Given the description of an element on the screen output the (x, y) to click on. 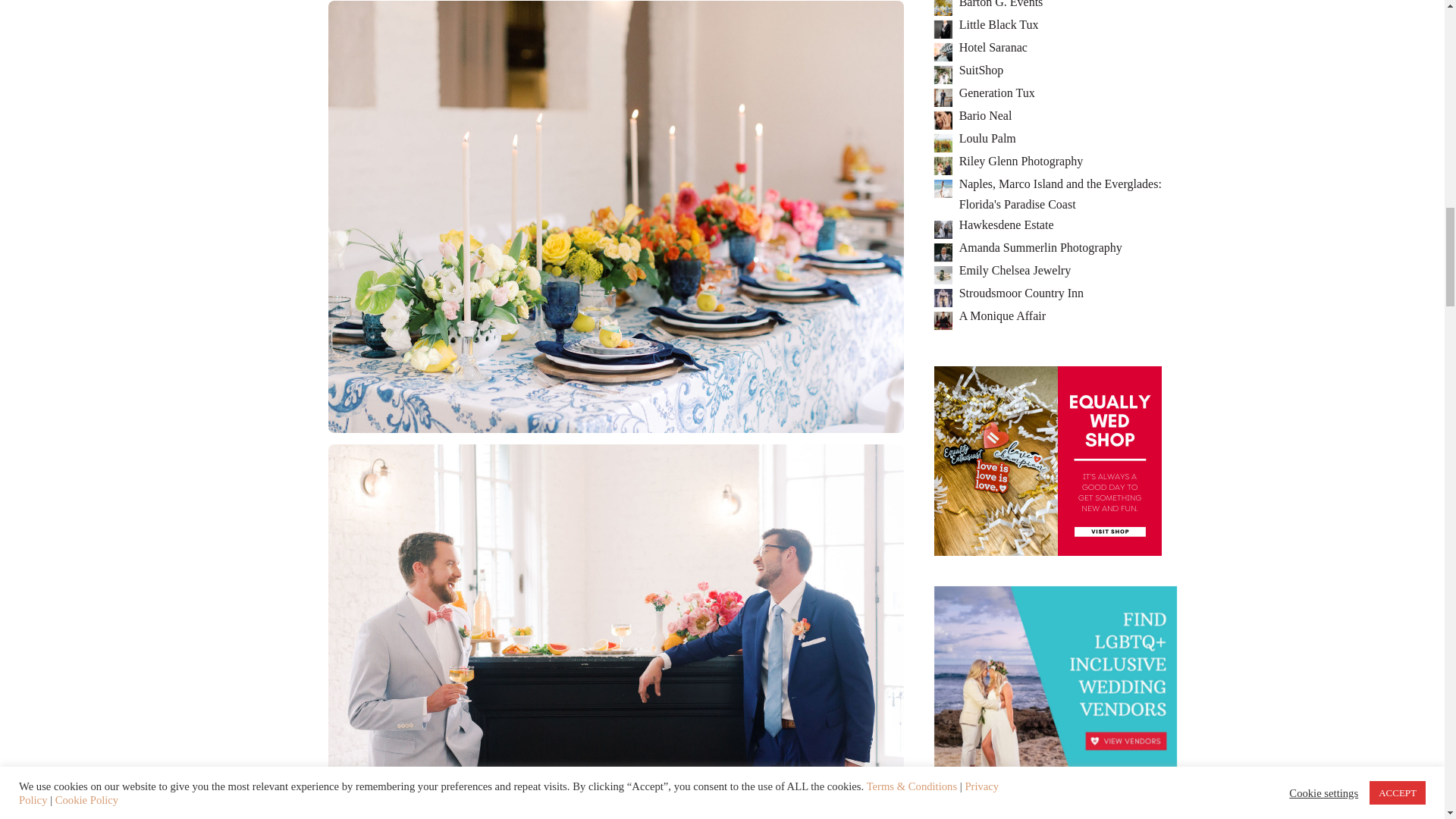
Summer citrus wedding inspiration at historic post office (614, 658)
Summer citrus wedding inspiration at historic post office (614, 215)
